Given the description of an element on the screen output the (x, y) to click on. 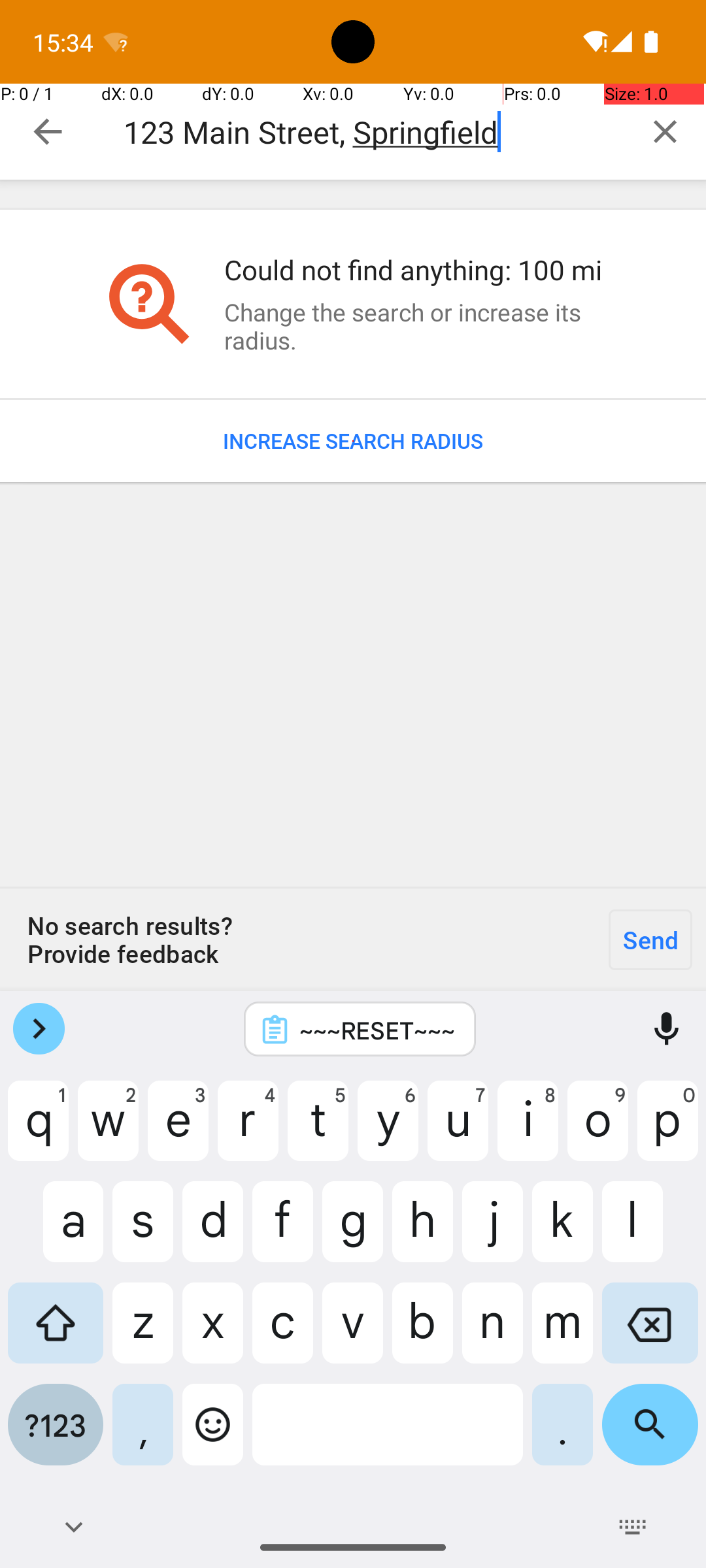
No search results?
Provide feedback Element type: android.widget.TextView (297, 939)
123 Main Street, Springfield Element type: android.widget.EditText (373, 131)
Send Element type: android.widget.TextView (650, 939)
Could not find anything: 100 mi Element type: android.widget.TextView (414, 269)
Change the search or increase its radius. Element type: android.widget.TextView (414, 325)
INCREASE SEARCH RADIUS Element type: android.widget.TextView (352, 440)
